Given the description of an element on the screen output the (x, y) to click on. 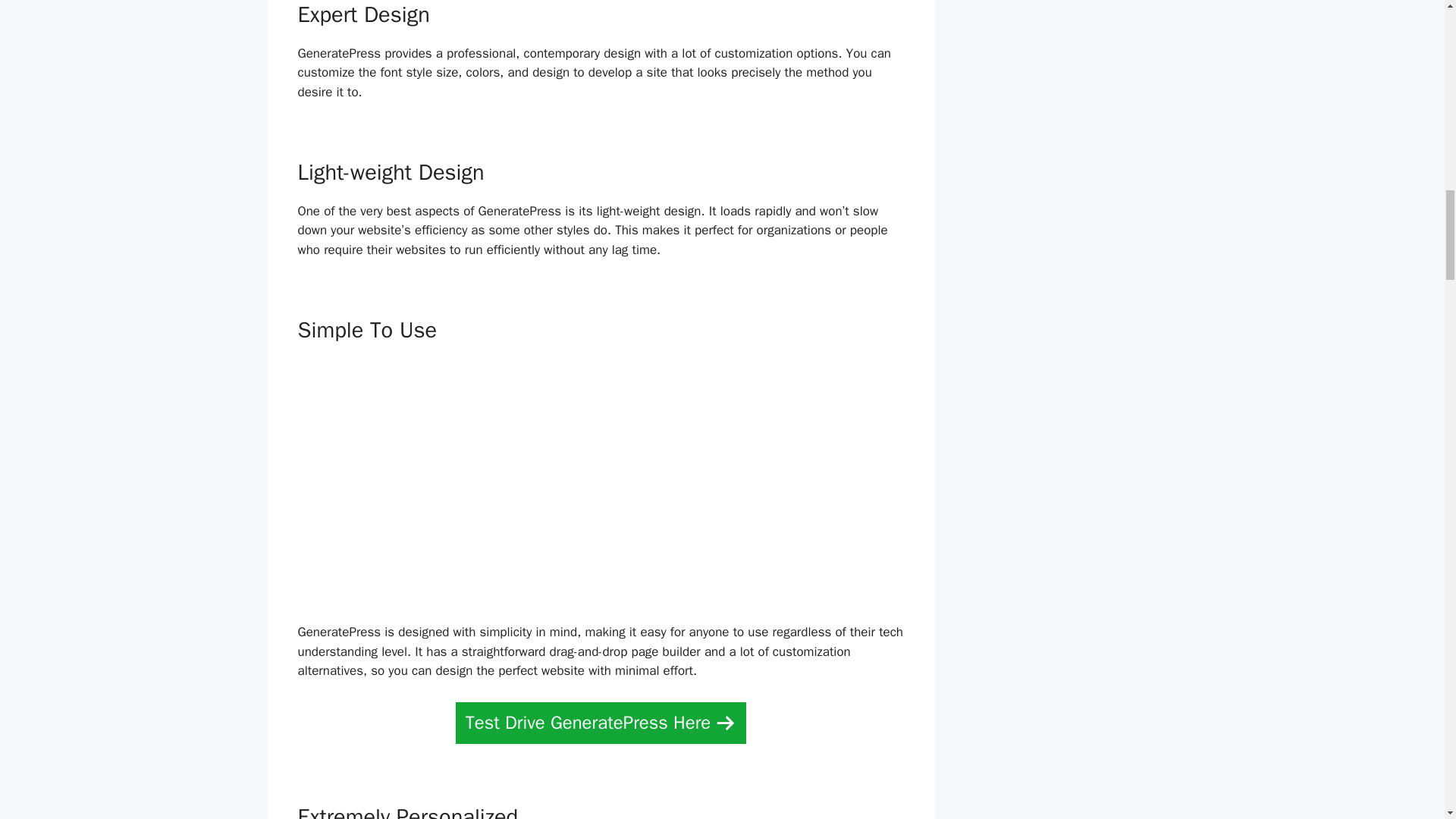
YouTube video player (600, 477)
Test Drive GeneratePress Here (600, 722)
